Given the description of an element on the screen output the (x, y) to click on. 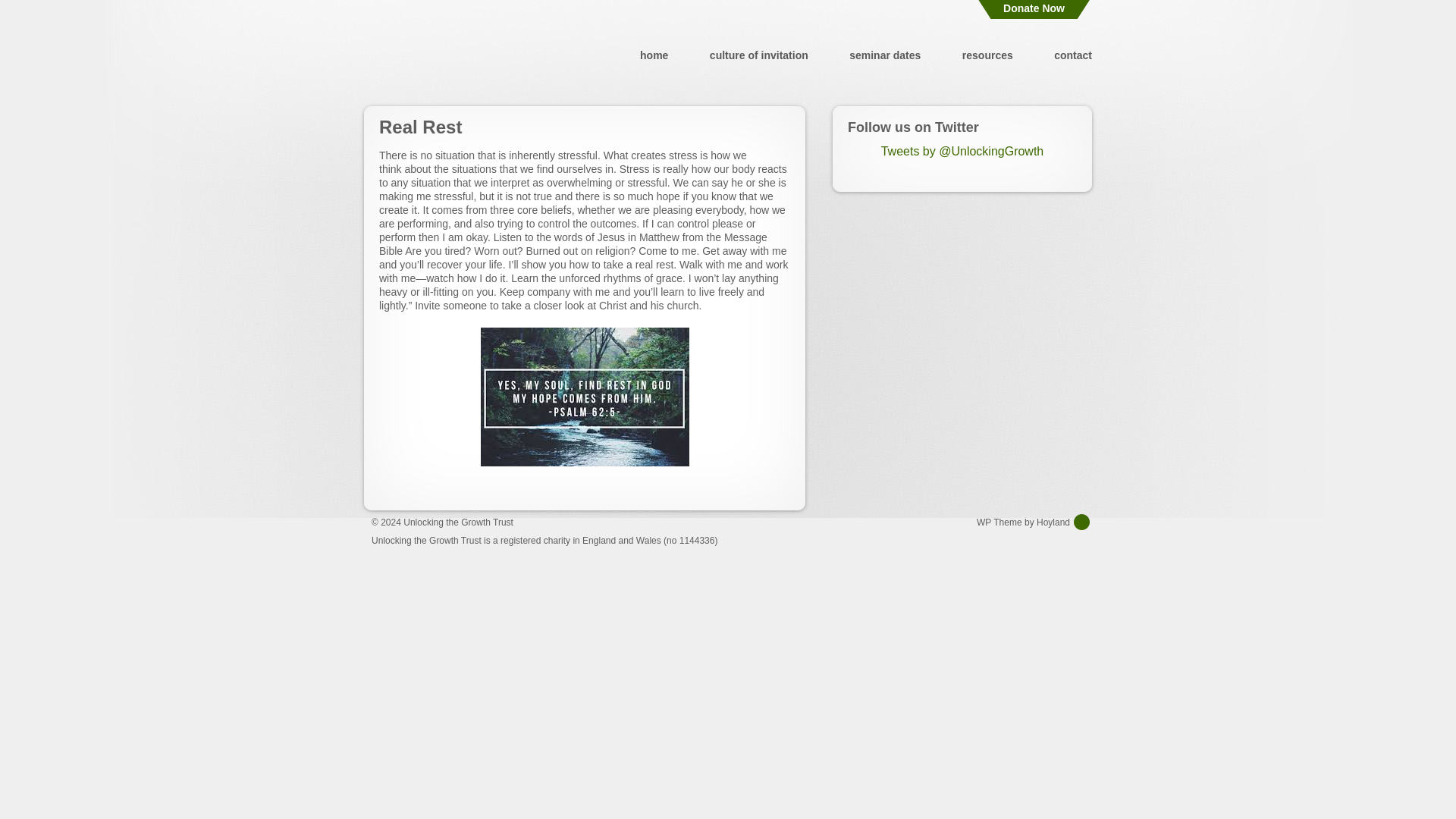
home (654, 55)
resources (987, 55)
WP Theme by Hoyland (1033, 521)
Unlocking the Growth Trust (458, 521)
culture of invitation (759, 55)
contact (1073, 55)
Wordpress theme by Hoyland Web Design (1033, 521)
Donate Now (1033, 9)
seminar dates (884, 55)
Unlocking the Growth Trust (458, 521)
